Given the description of an element on the screen output the (x, y) to click on. 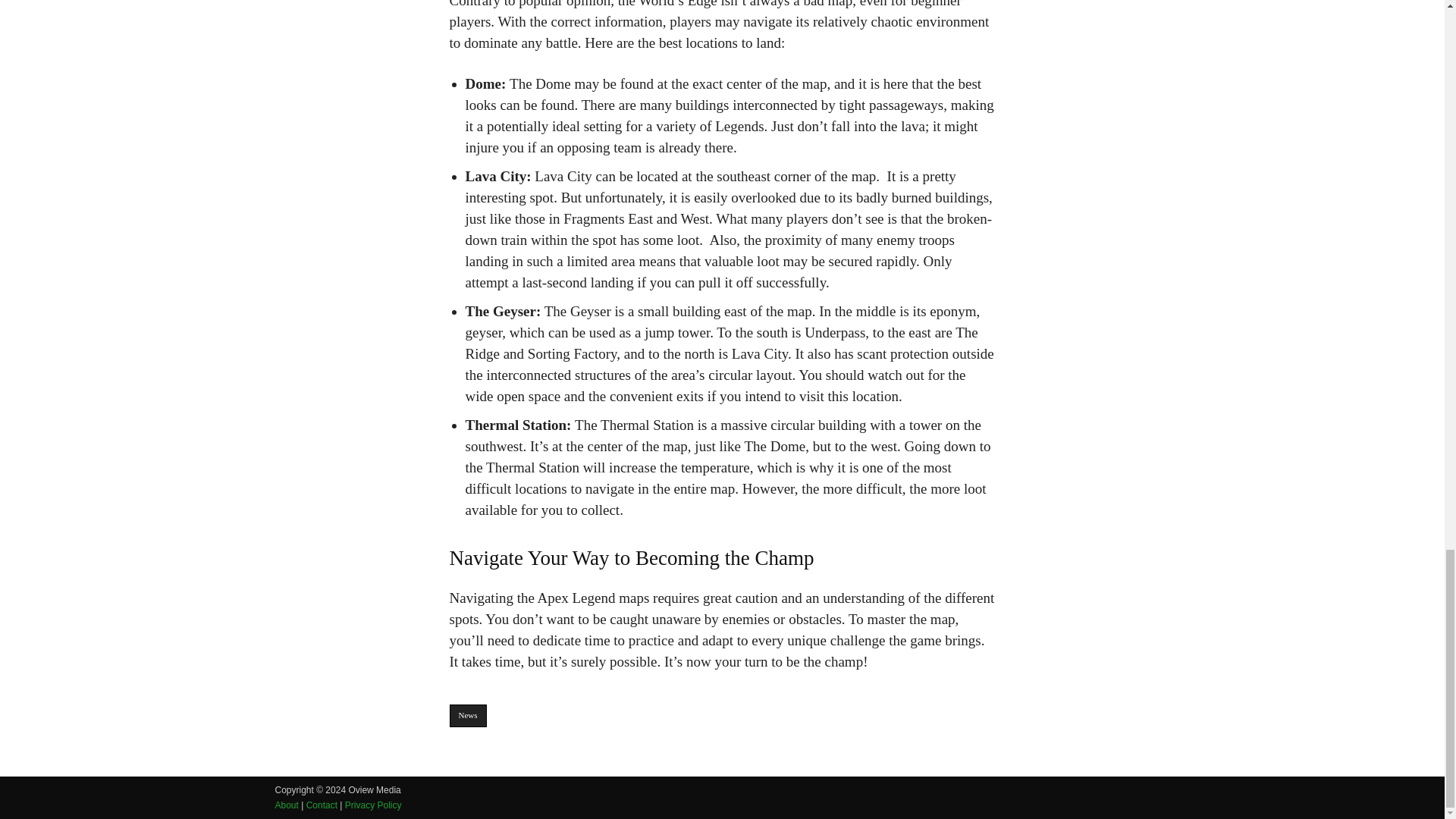
About (286, 805)
Privacy Policy (373, 805)
Contact (321, 805)
News (467, 715)
